Given the description of an element on the screen output the (x, y) to click on. 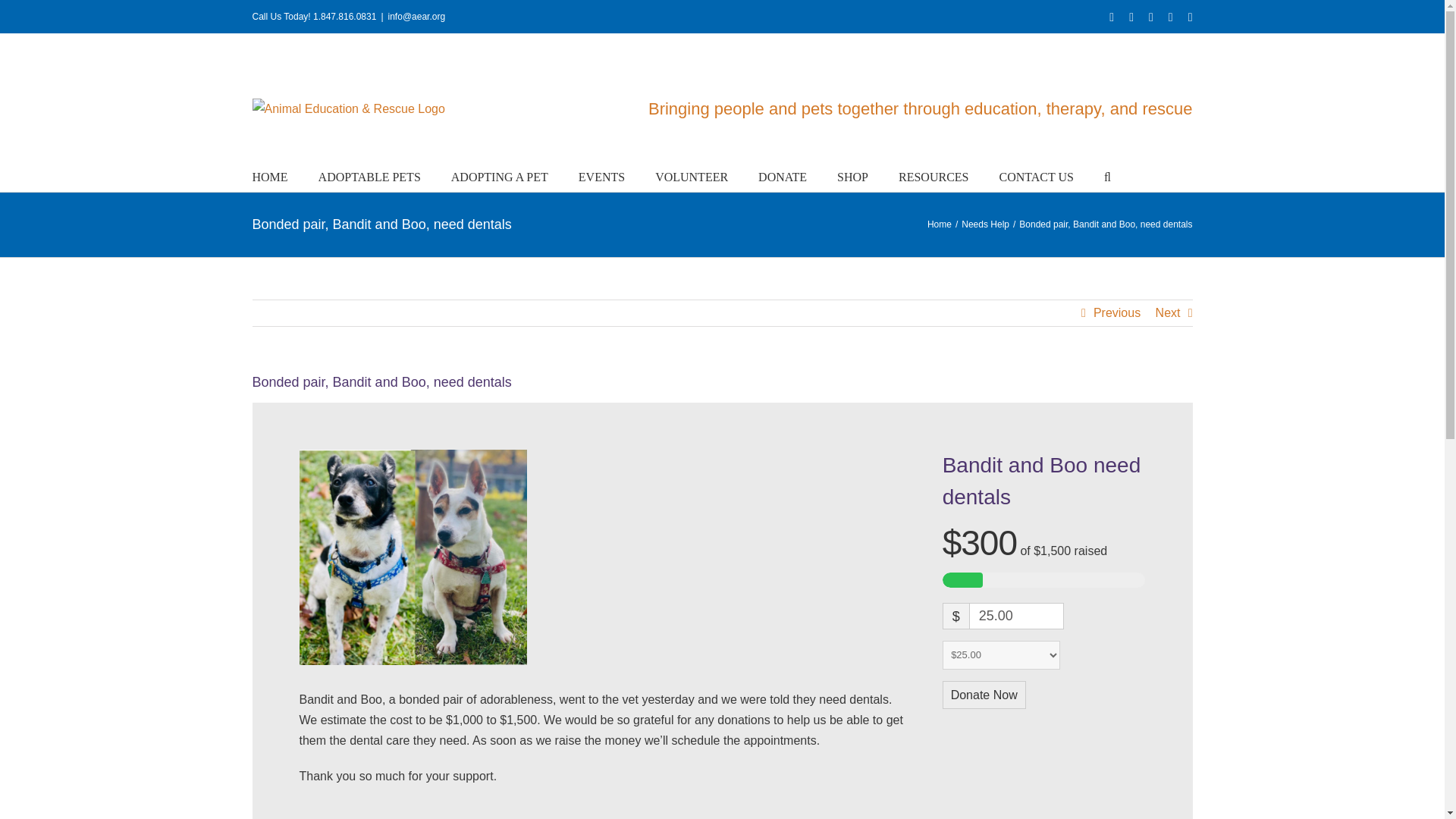
EVENTS (601, 175)
banditboo (411, 557)
RESOURCES (933, 175)
ADOPTABLE PETS (369, 175)
ADOPTING A PET (499, 175)
SHOP (852, 175)
DONATE (782, 175)
25.00 (1016, 615)
VOLUNTEER (691, 175)
HOME (268, 175)
